Given the description of an element on the screen output the (x, y) to click on. 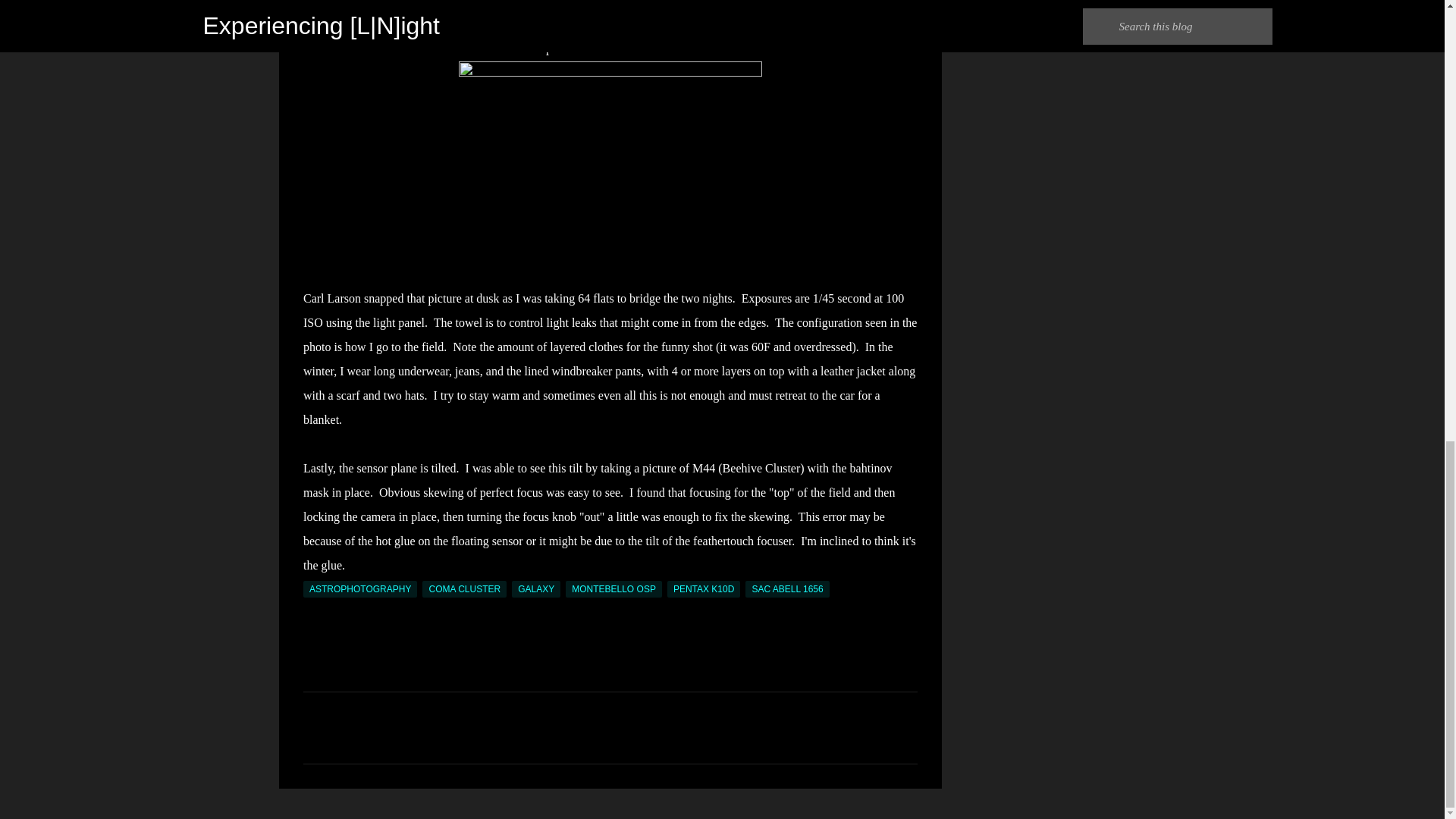
GALAXY (536, 588)
MONTEBELLO OSP (614, 588)
COMA CLUSTER (464, 588)
SAC ABELL 1656 (786, 588)
PENTAX K10D (702, 588)
ASTROPHOTOGRAPHY (359, 588)
